Given the description of an element on the screen output the (x, y) to click on. 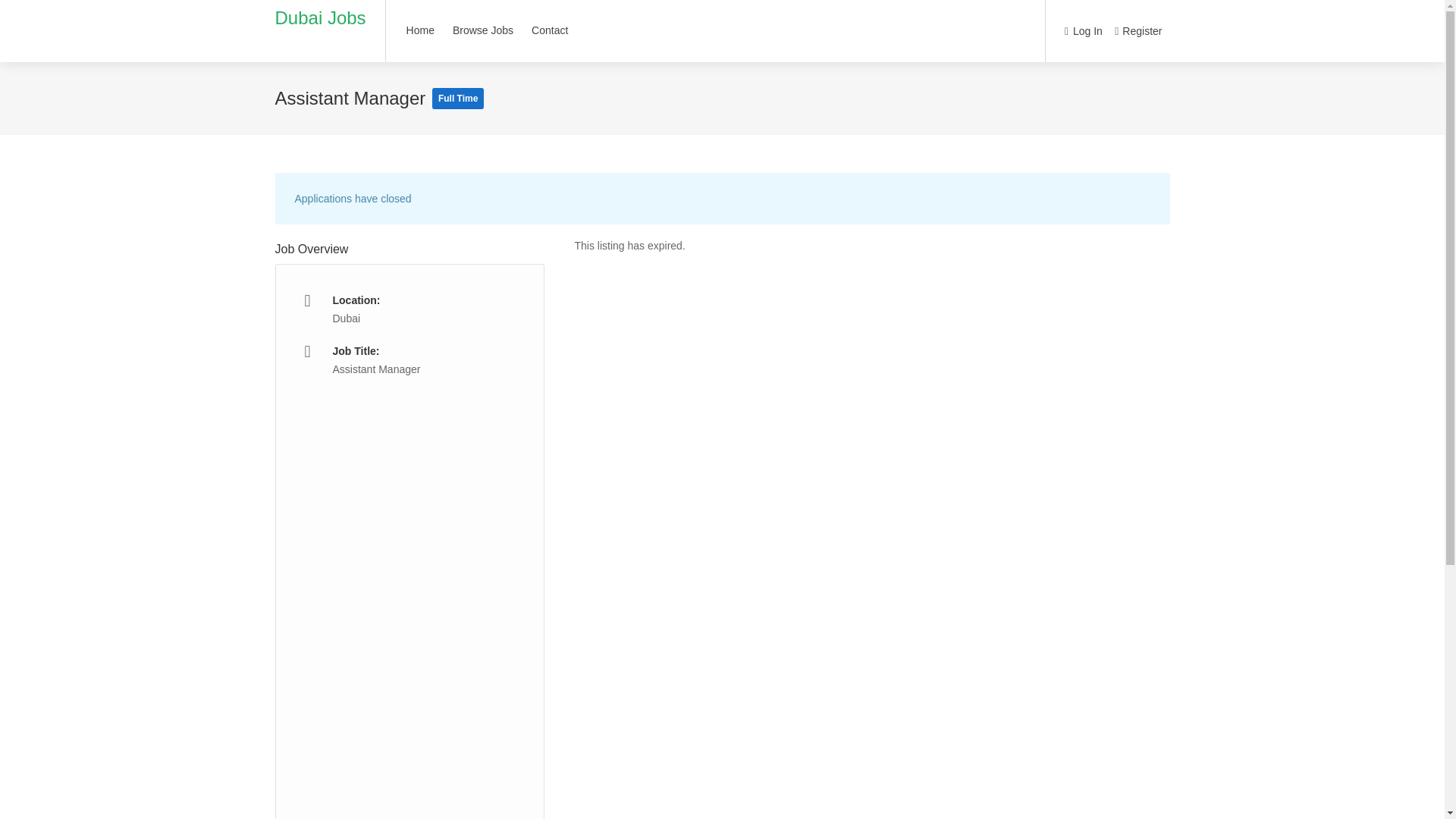
Home (419, 30)
Advertisement (409, 599)
Register (1138, 31)
Dubai (345, 318)
Contact (549, 30)
Log In (1083, 31)
Dubai Jobs (320, 17)
Dubai Jobs (320, 17)
Browse Jobs (482, 30)
